Given the description of an element on the screen output the (x, y) to click on. 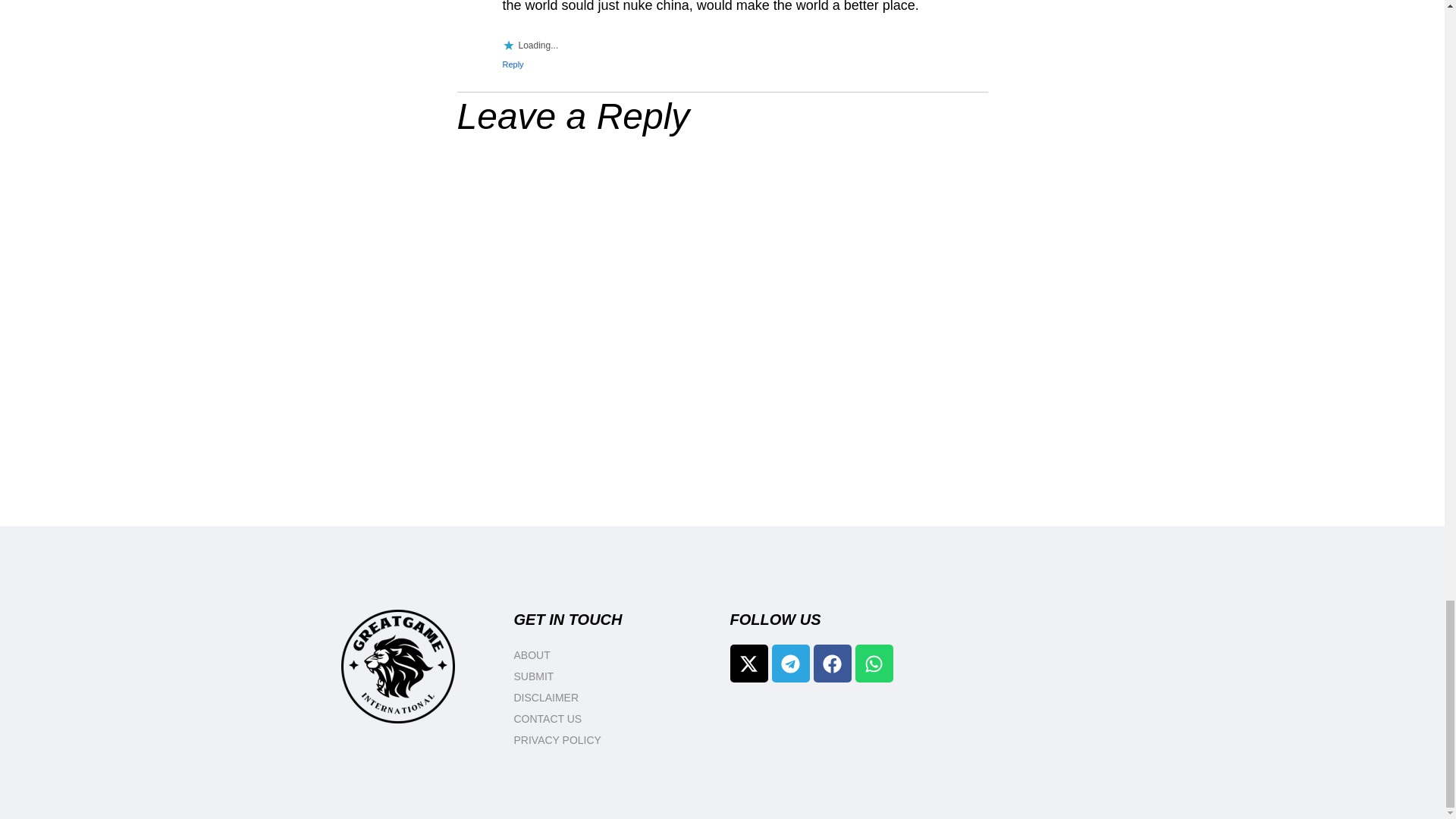
PRIVACY POLICY (613, 740)
SUBMIT (613, 676)
ABOUT (613, 654)
Reply (512, 63)
CONTACT US (613, 718)
